Given the description of an element on the screen output the (x, y) to click on. 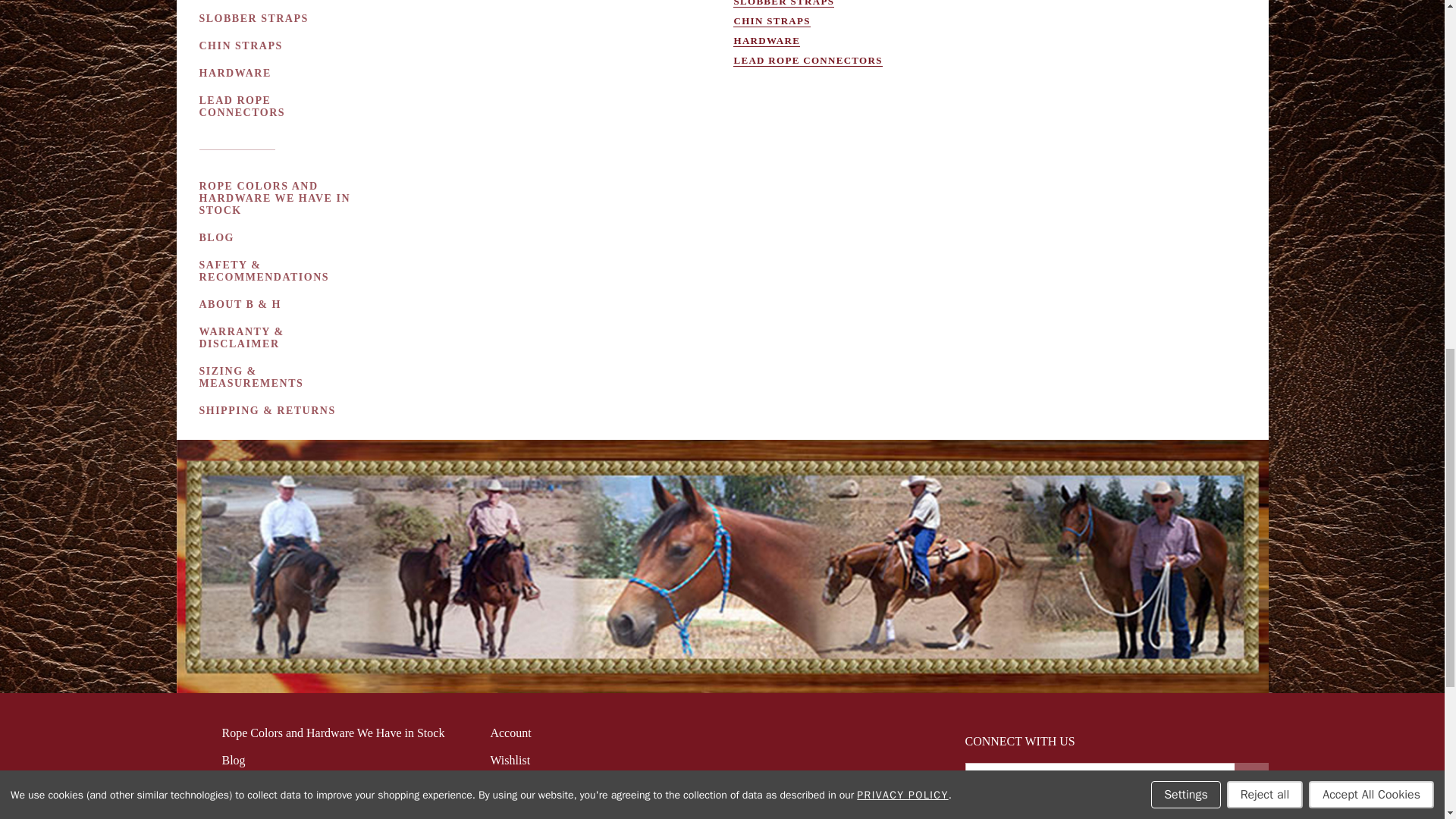
Connect With Us (1250, 777)
ROPE COLORS AND HARDWARE WE HAVE IN STOCK (278, 198)
CHIN STRAPS (241, 46)
SLOBBER STRAPS (254, 19)
HARDWARE (236, 73)
BLOG (217, 237)
LEAD ROPE CONNECTORS (278, 106)
